Given the description of an element on the screen output the (x, y) to click on. 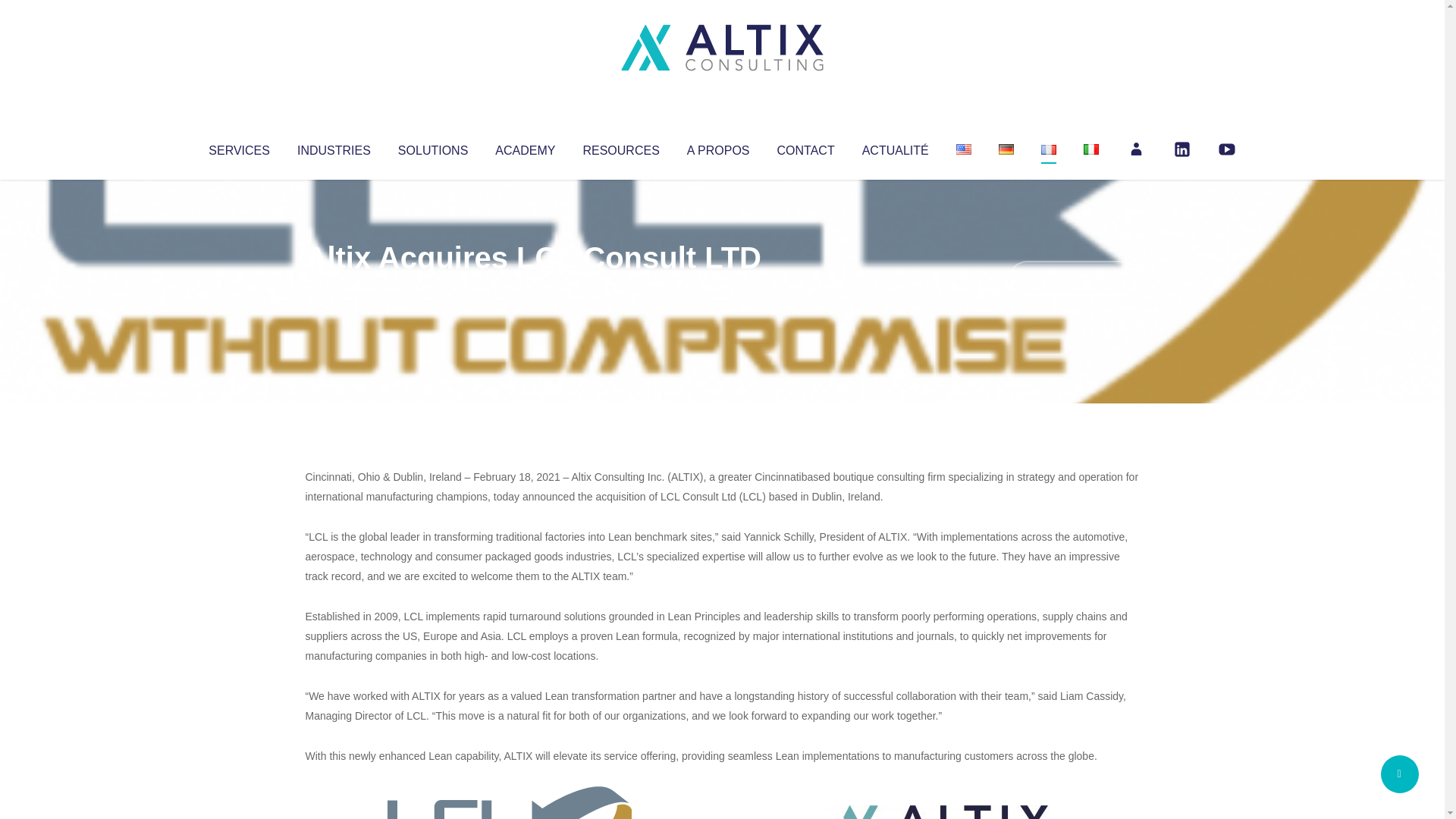
Articles par Altix (333, 287)
Altix (333, 287)
A PROPOS (718, 146)
INDUSTRIES (334, 146)
No Comments (1073, 278)
SOLUTIONS (432, 146)
RESOURCES (620, 146)
ACADEMY (524, 146)
Uncategorized (530, 287)
SERVICES (238, 146)
